Given the description of an element on the screen output the (x, y) to click on. 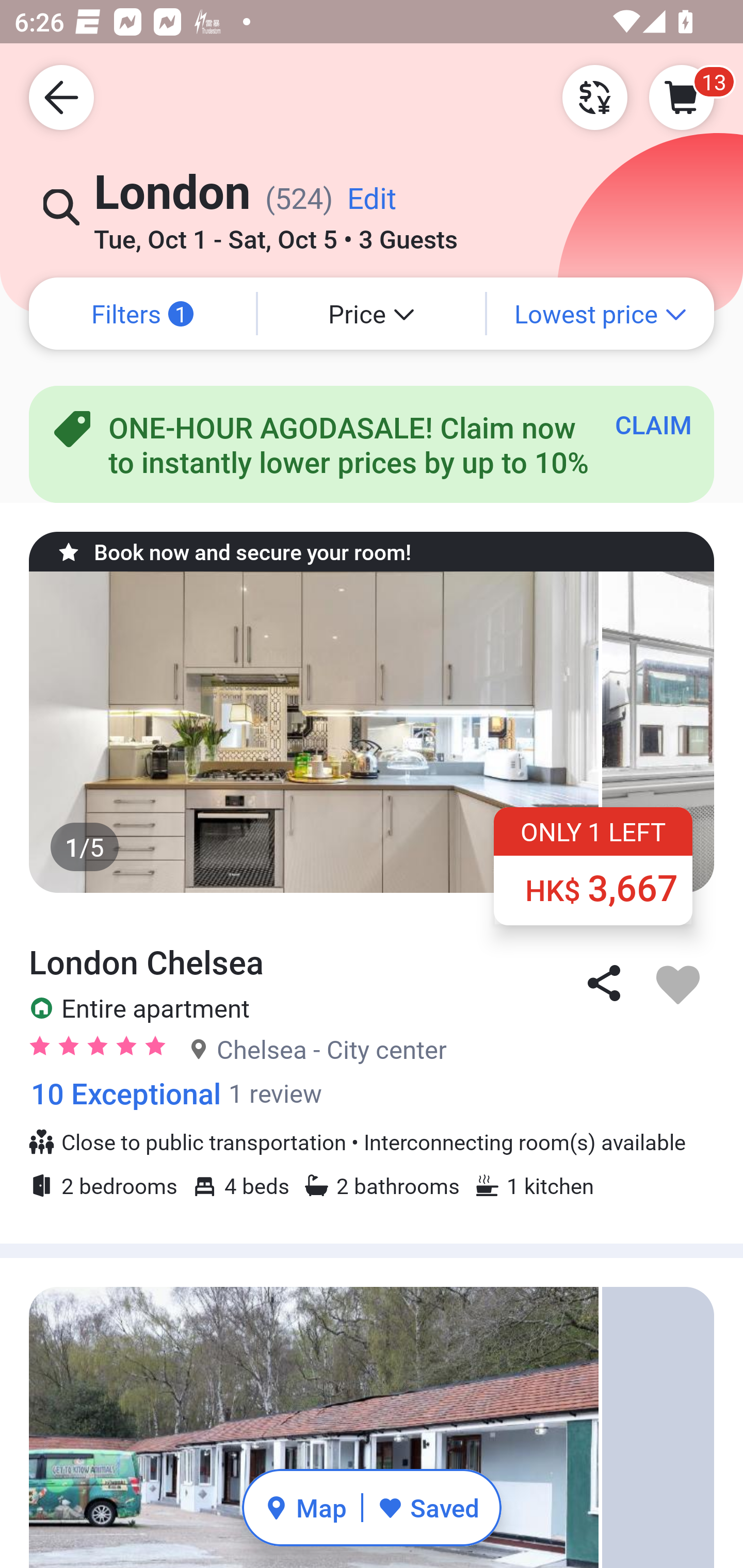
Tue, Oct 1 - Sat, Oct 5 • 3 Guests (275, 232)
Filters 1 (141, 313)
Price (371, 313)
Lowest price (600, 313)
CLAIM (653, 424)
1/5 (371, 731)
ONLY 1 LEFT ‪HK$ 3,667 (593, 866)
Map (305, 1507)
Saved (428, 1507)
